Given the description of an element on the screen output the (x, y) to click on. 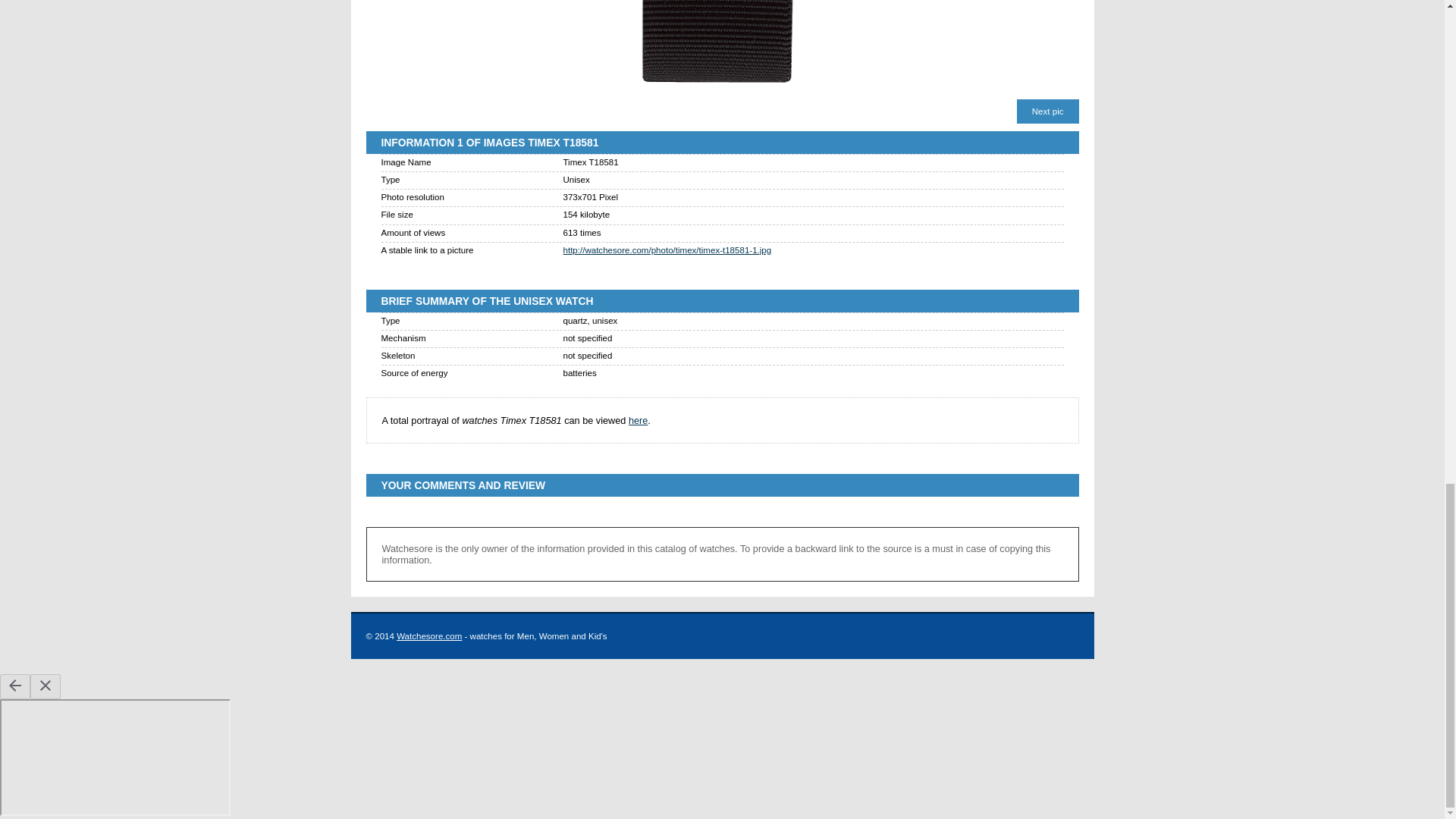
here (637, 419)
Next pic (1047, 111)
Timex T18581 - 1 picture (721, 45)
Watchesore.com (428, 635)
